Given the description of an element on the screen output the (x, y) to click on. 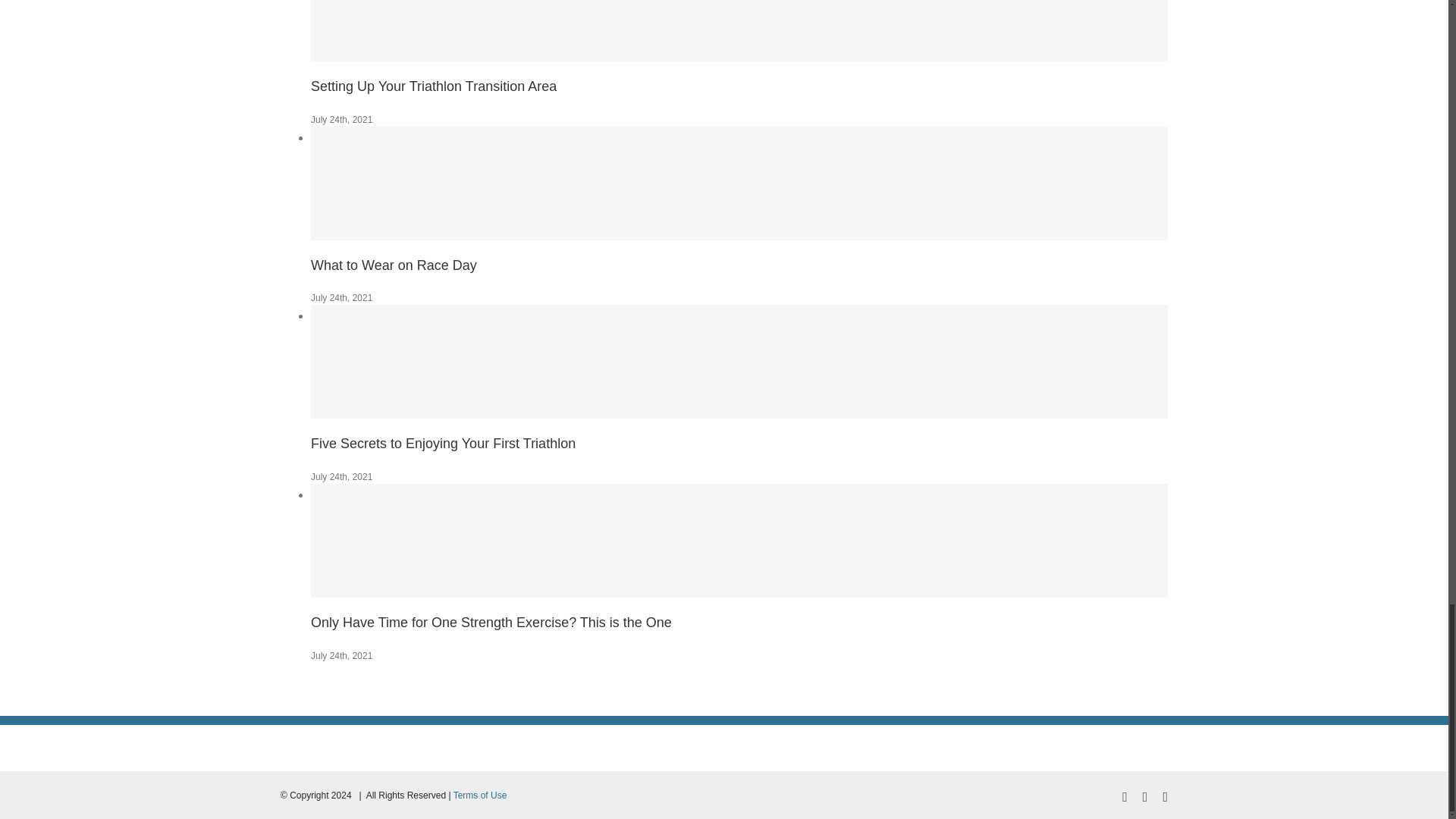
Setting Up Your Triathlon Transition Area (433, 86)
Setting Up Your Triathlon Transition Area (433, 86)
Only Have Time for One Strength Exercise? This is the One (491, 622)
What to Wear on Race Day (394, 264)
Five Secrets to Enjoying Your First Triathlon (443, 443)
